Given the description of an element on the screen output the (x, y) to click on. 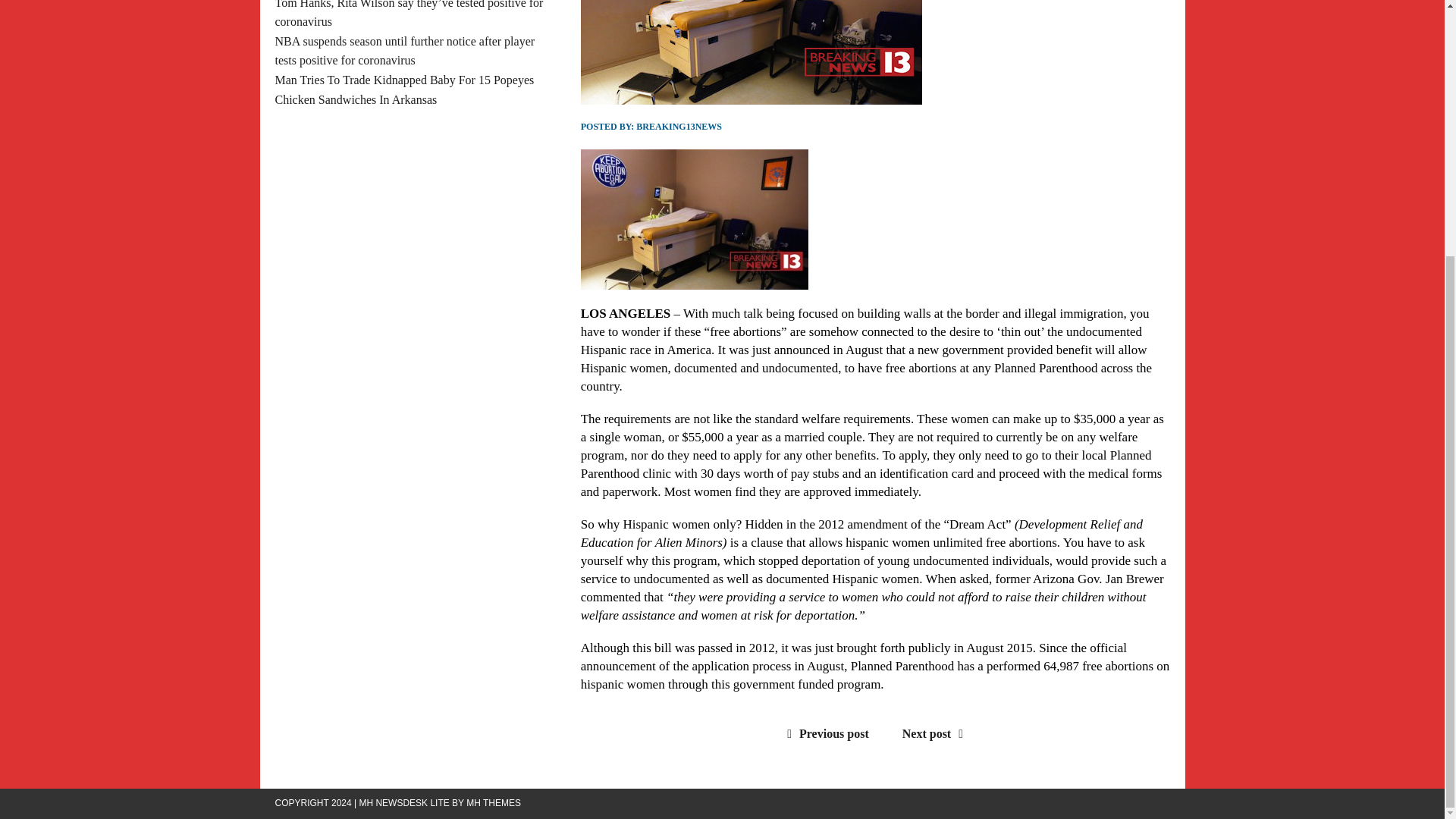
Previous post (823, 733)
Next post (936, 733)
MH THEMES (493, 802)
BREAKING13NEWS (679, 126)
